Given the description of an element on the screen output the (x, y) to click on. 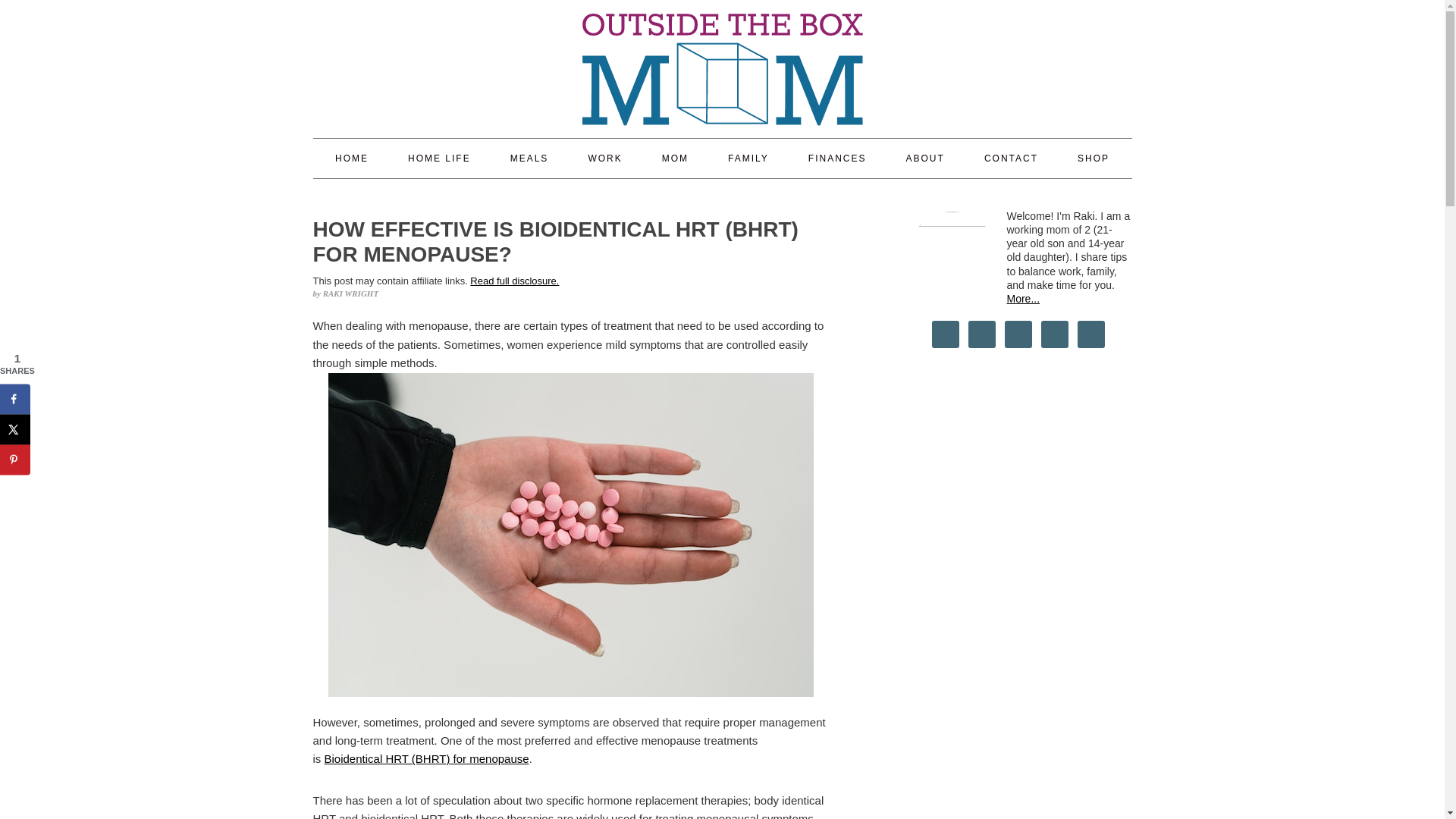
Share on Facebook (15, 399)
WORK (604, 158)
FAMILY (748, 158)
Share on X (15, 429)
MEALS (529, 158)
HOME (351, 158)
Save to Pinterest (15, 459)
MOM (675, 158)
HOME LIFE (438, 158)
